Given the description of an element on the screen output the (x, y) to click on. 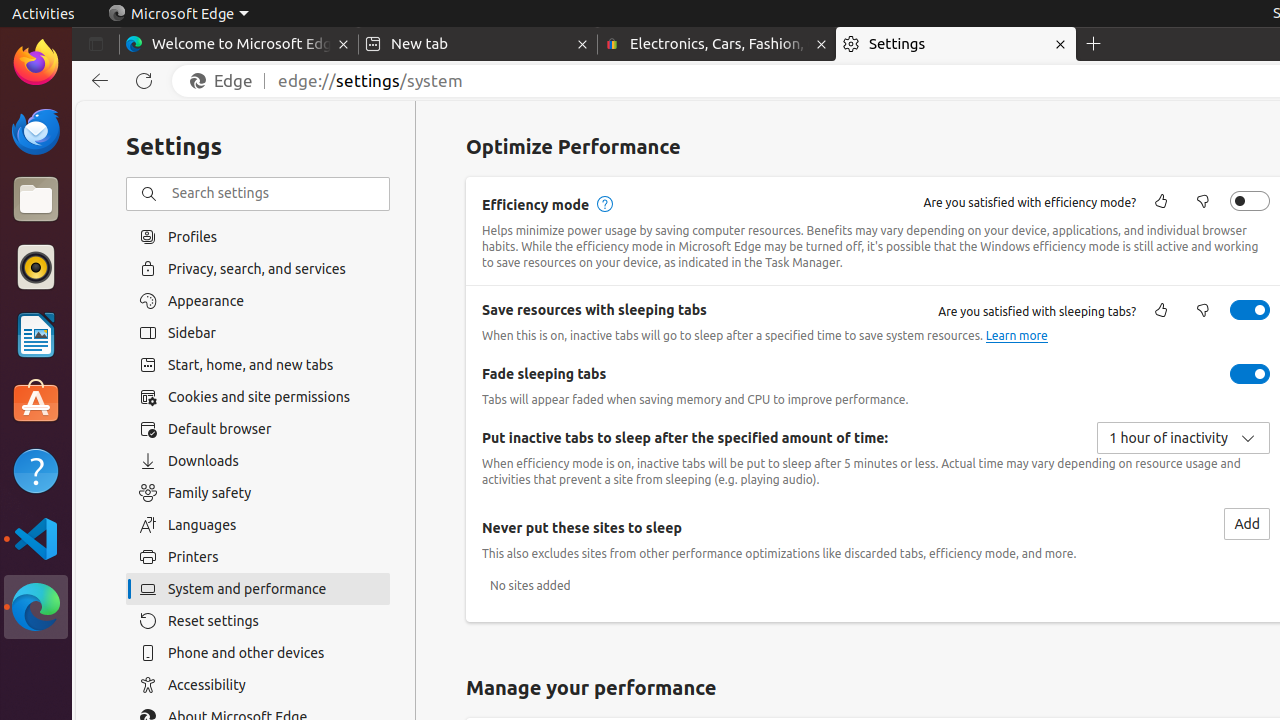
Learn more Element type: link (1016, 336)
Help Element type: push-button (36, 470)
Put inactive tabs to sleep after the specified amount of time: 1 hour of inactivity Element type: push-button (1183, 438)
Start, home, and new tabs Element type: tree-item (258, 365)
Reset settings Element type: tree-item (258, 621)
